Given the description of an element on the screen output the (x, y) to click on. 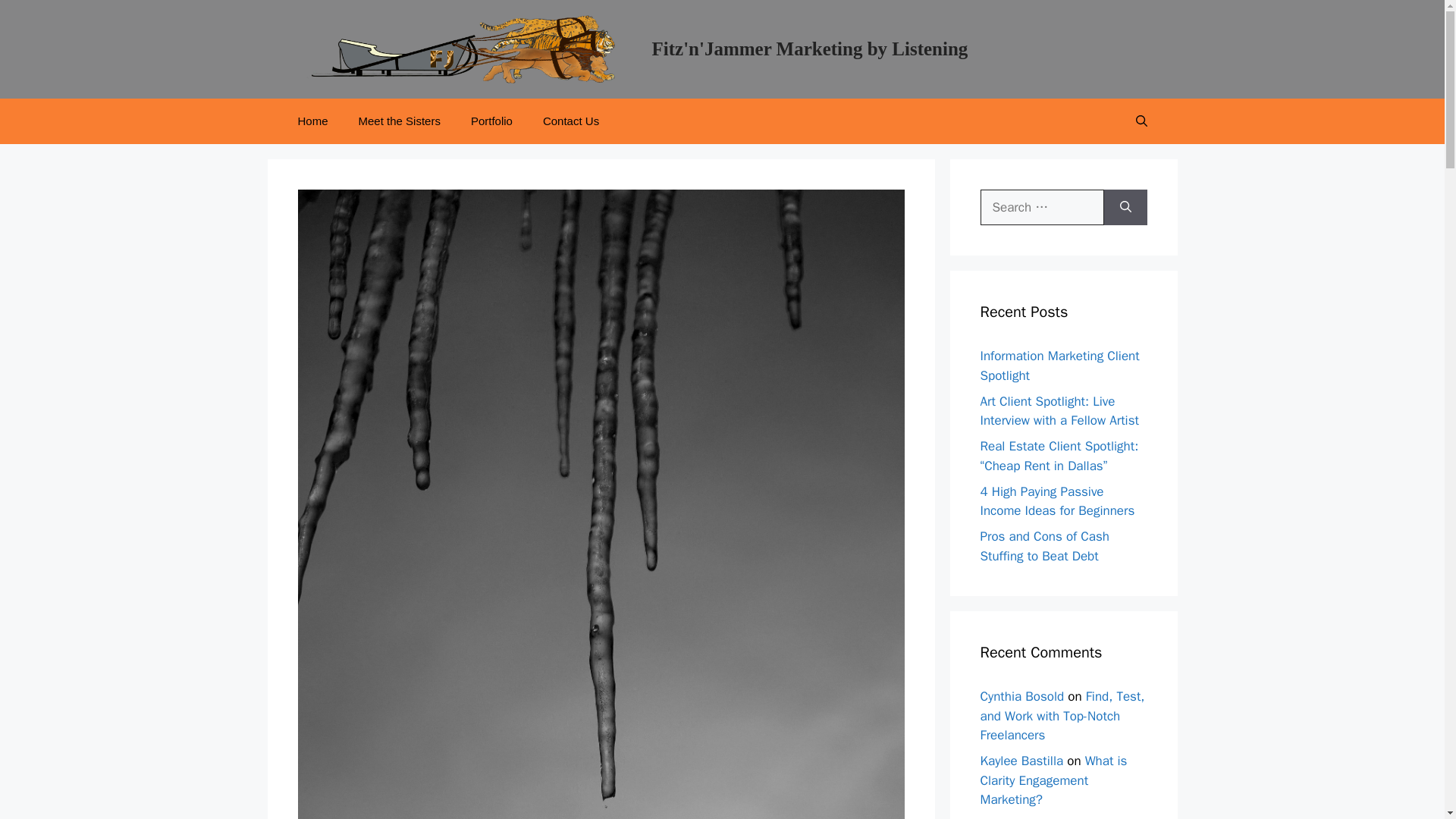
Art Client Spotlight: Live Interview with a Fellow Artist (1058, 411)
Portfolio (491, 121)
Meet the Sisters (399, 121)
Home (312, 121)
Information Marketing Client Spotlight (1058, 366)
4 High Paying Passive Income Ideas for Beginners (1056, 501)
Cynthia Bosold (1021, 696)
What is Clarity Engagement Marketing? (1052, 779)
Kaylee Bastilla (1020, 760)
Find, Test, and Work with Top-Notch Freelancers (1061, 715)
Contact Us (570, 121)
Pros and Cons of Cash Stuffing to Beat Debt (1043, 546)
Fitz'n'Jammer Marketing by Listening (810, 48)
Search for: (1041, 207)
